Given the description of an element on the screen output the (x, y) to click on. 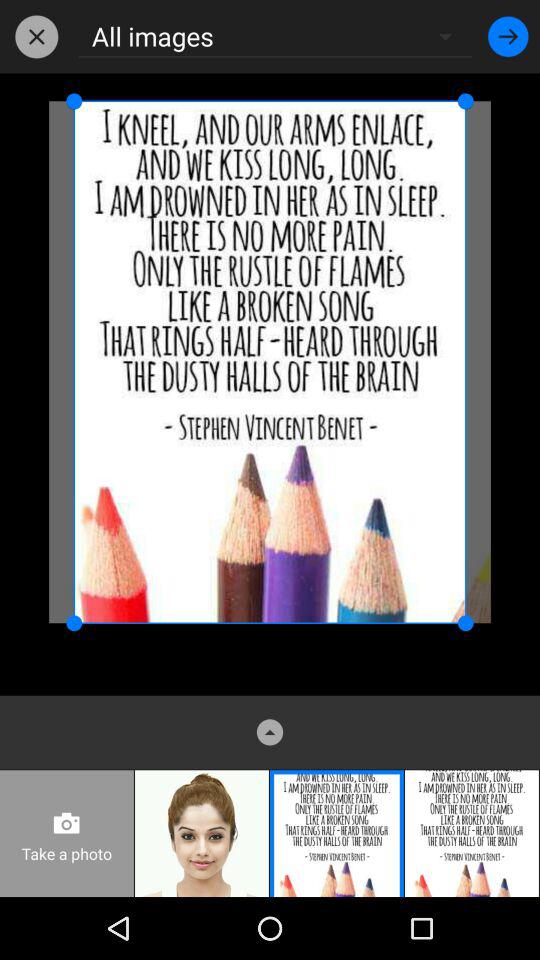
click item next to all images item (36, 36)
